Given the description of an element on the screen output the (x, y) to click on. 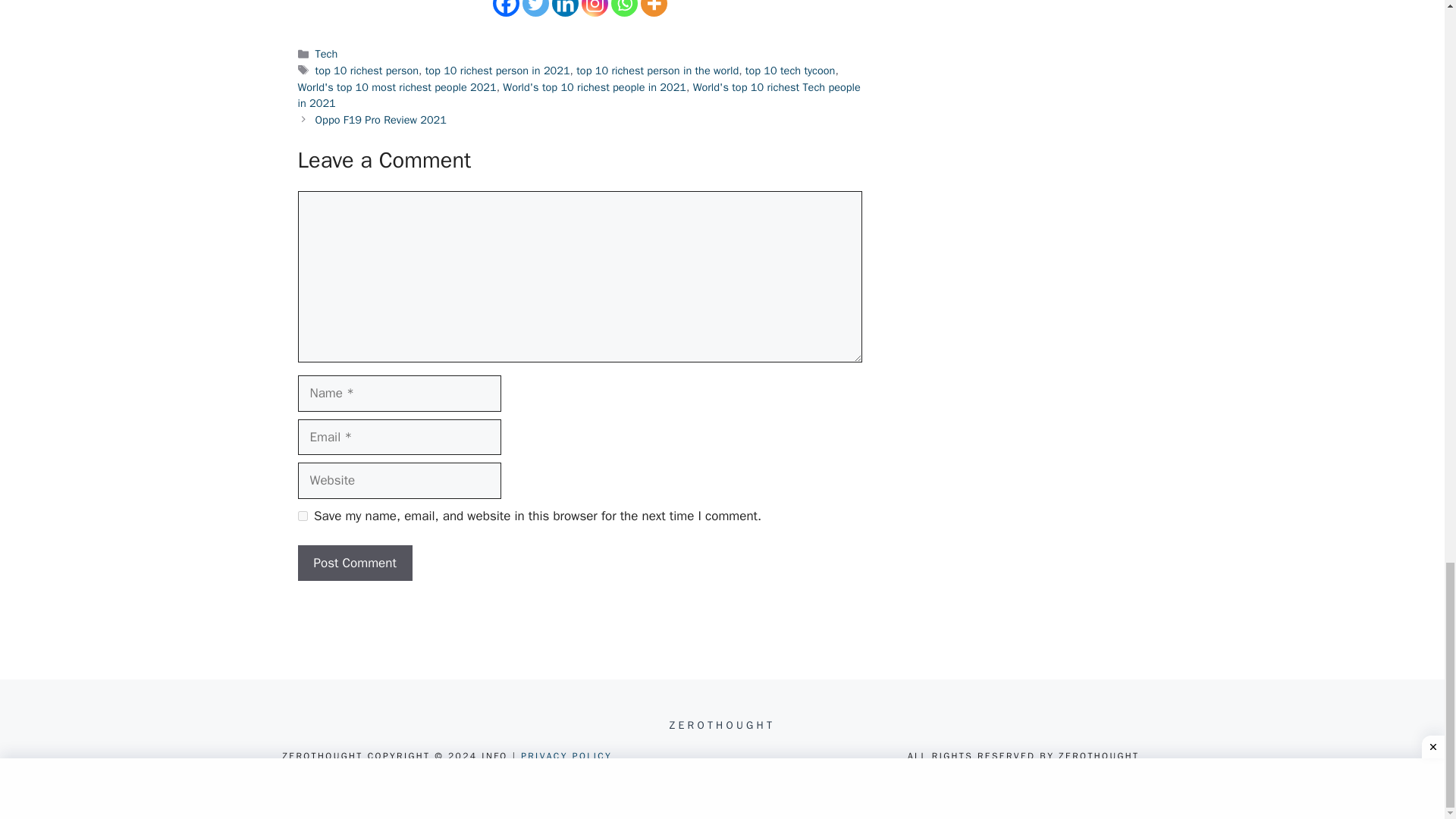
top 10 tech tycoon (790, 69)
Oppo F19 Pro Review 2021 (380, 119)
top 10 richest person in the world (657, 69)
World's top 10 richest people in 2021 (593, 87)
Tech (326, 53)
Linkedin (564, 8)
Post Comment (354, 563)
top 10 richest person in 2021 (497, 69)
yes (302, 515)
Twitter (534, 8)
